Given the description of an element on the screen output the (x, y) to click on. 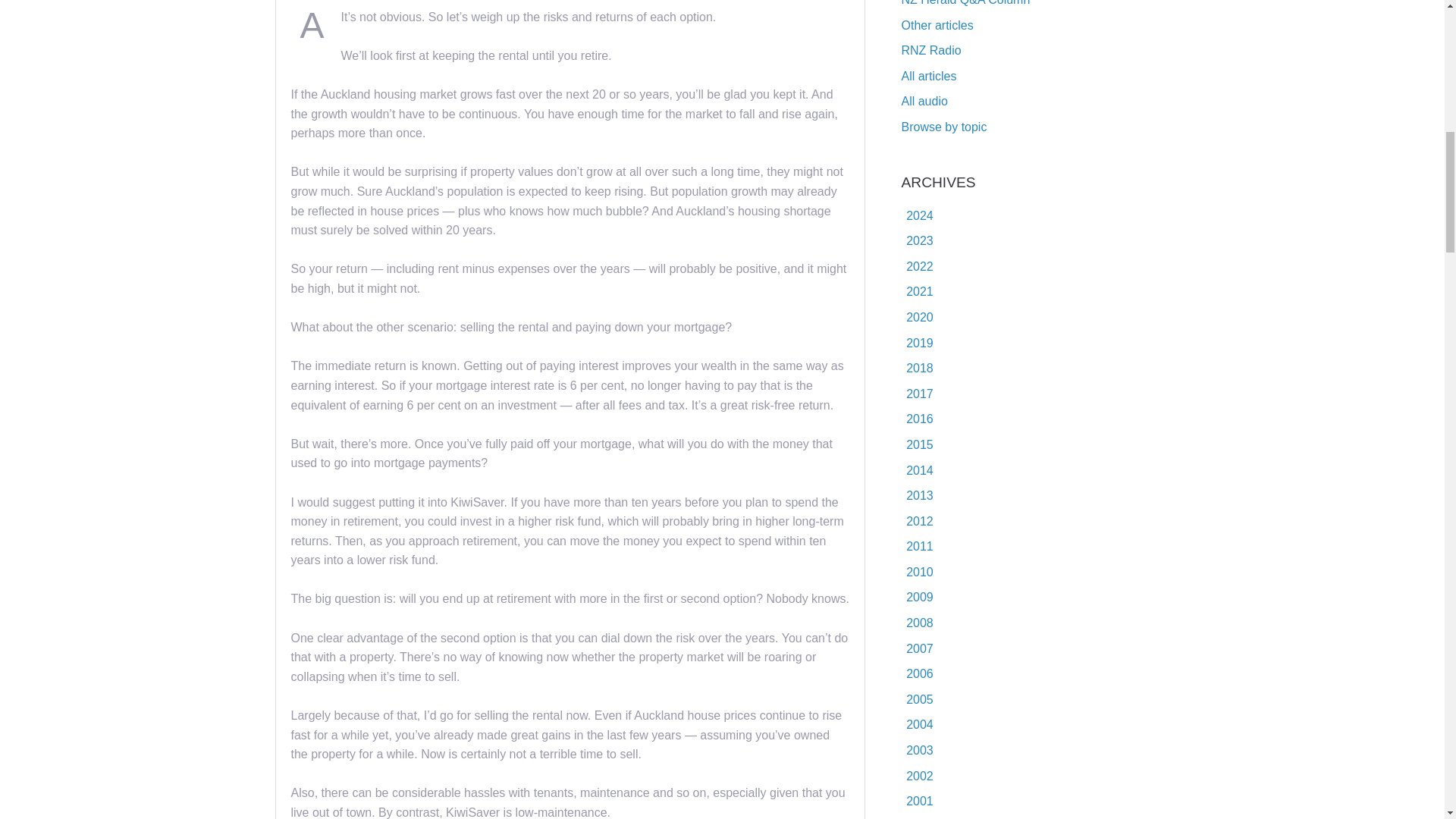
click to expand (917, 240)
click to expand (917, 215)
